Given the description of an element on the screen output the (x, y) to click on. 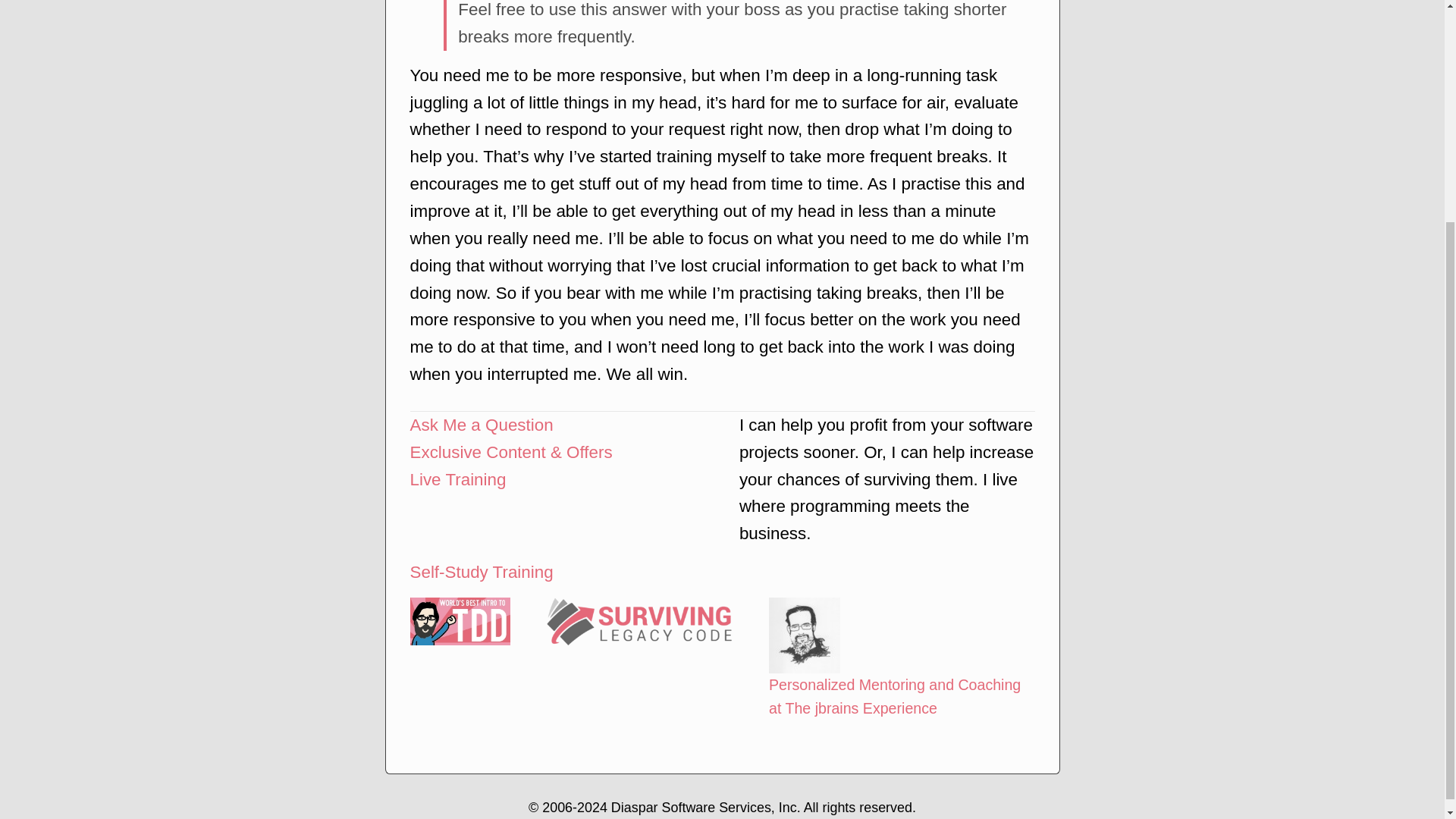
Live Training (457, 479)
Self-Study Training (481, 571)
Ask Me a Question (481, 424)
